Given the description of an element on the screen output the (x, y) to click on. 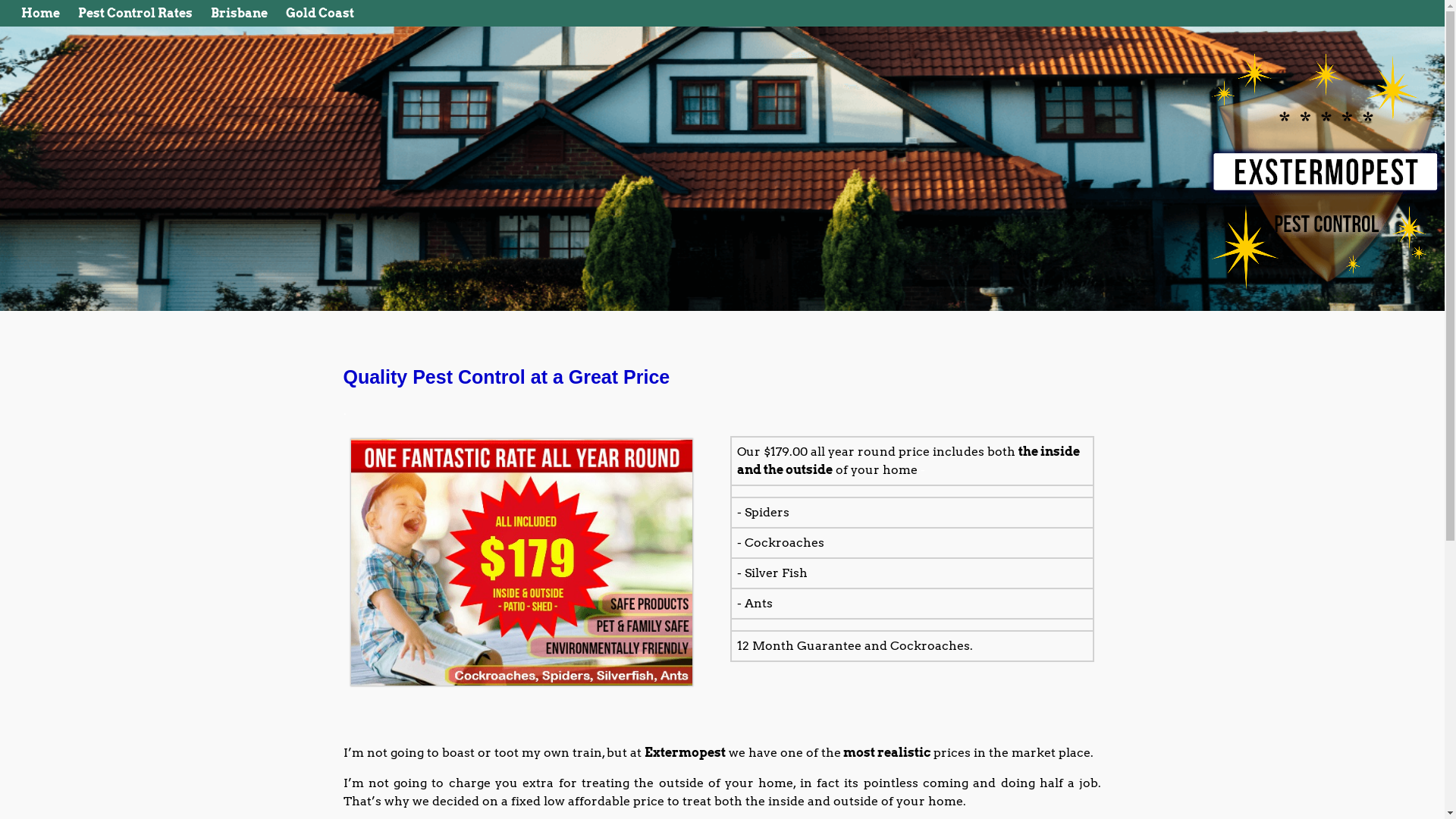
Brisbane Element type: text (238, 13)
Gold Coast Element type: text (319, 13)
Pest Control Rates Element type: text (135, 13)
Home Element type: text (40, 13)
